Given the description of an element on the screen output the (x, y) to click on. 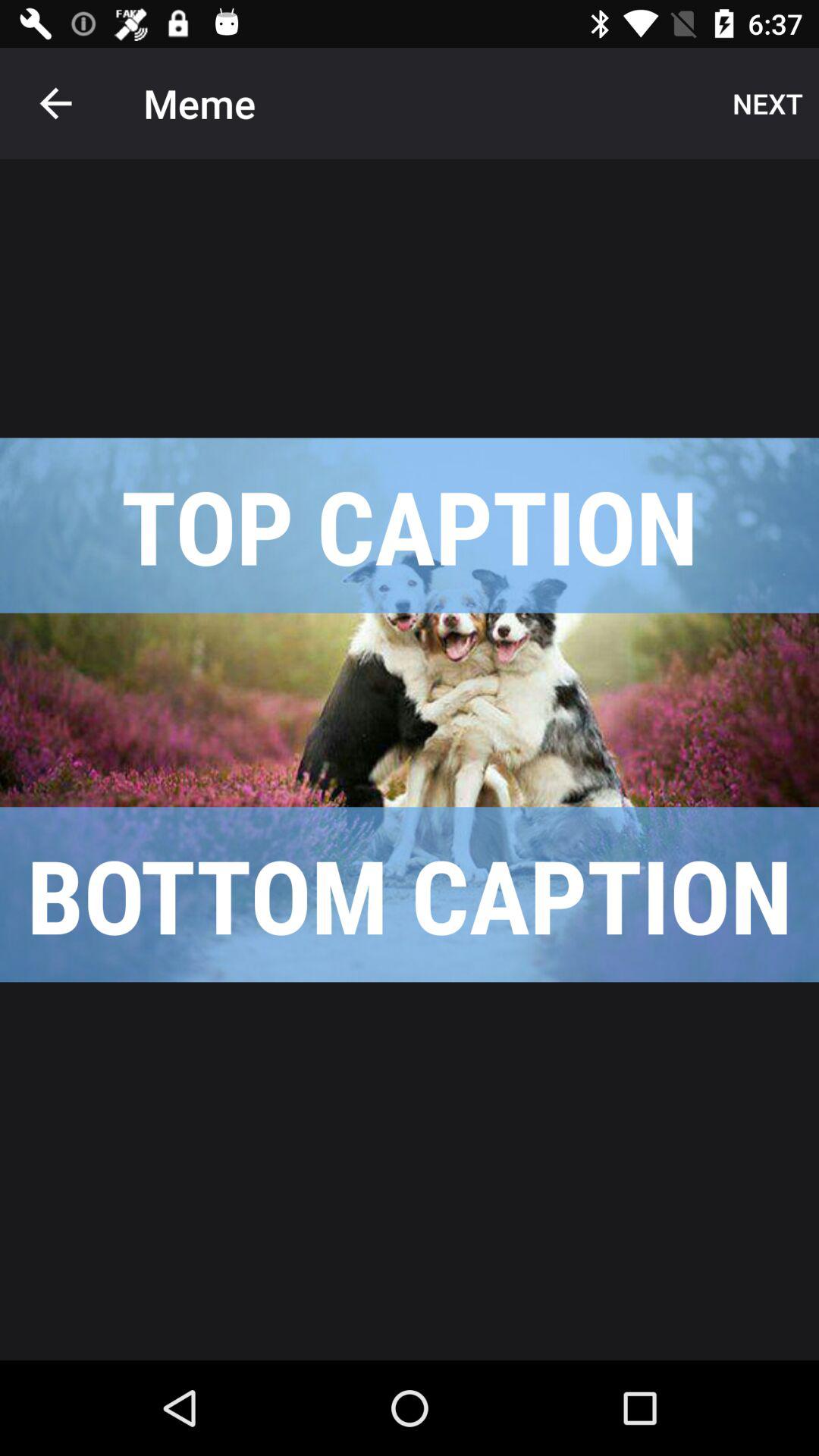
click the center page (409, 709)
